Given the description of an element on the screen output the (x, y) to click on. 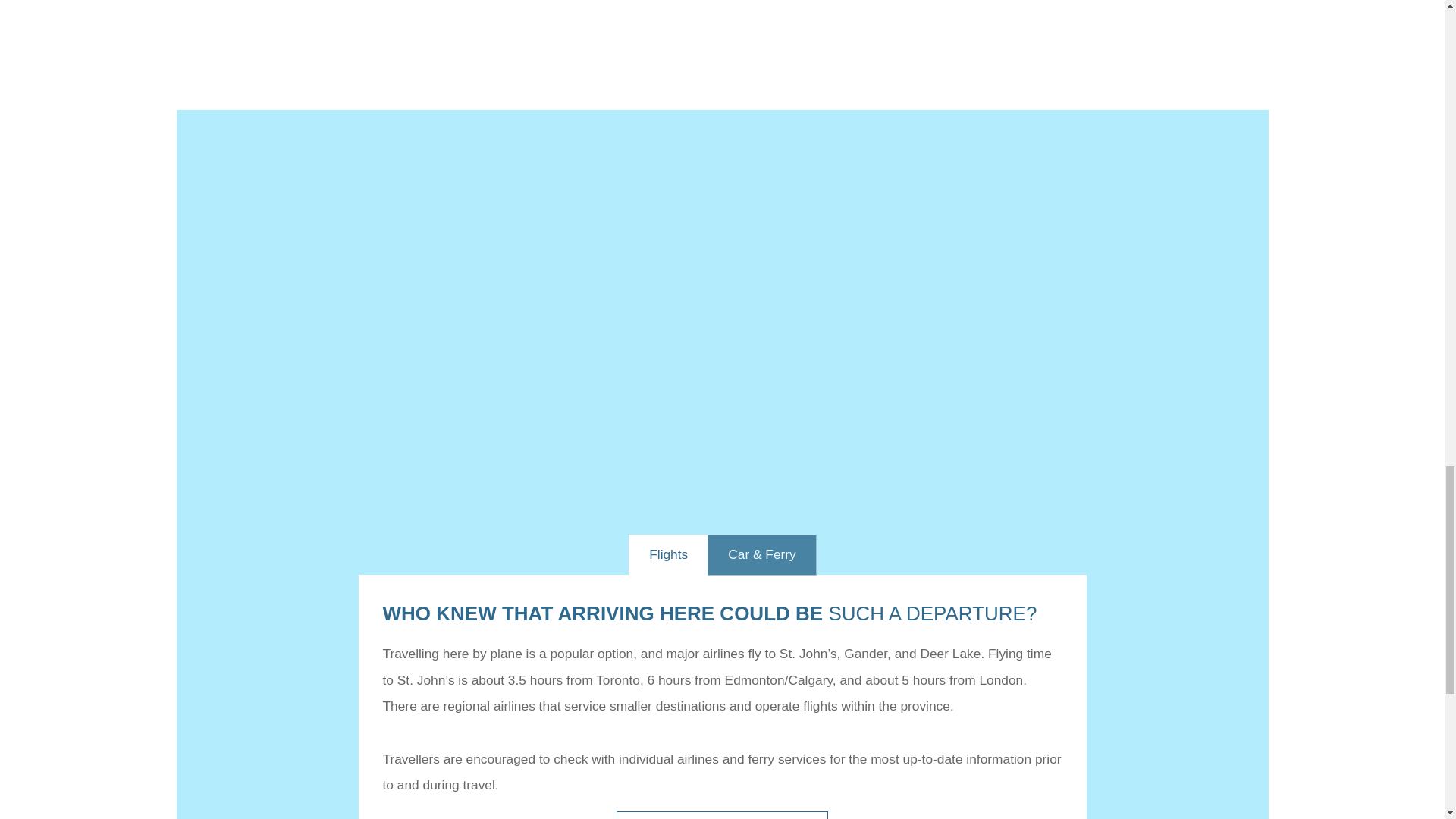
More Flight Information (721, 815)
